Given the description of an element on the screen output the (x, y) to click on. 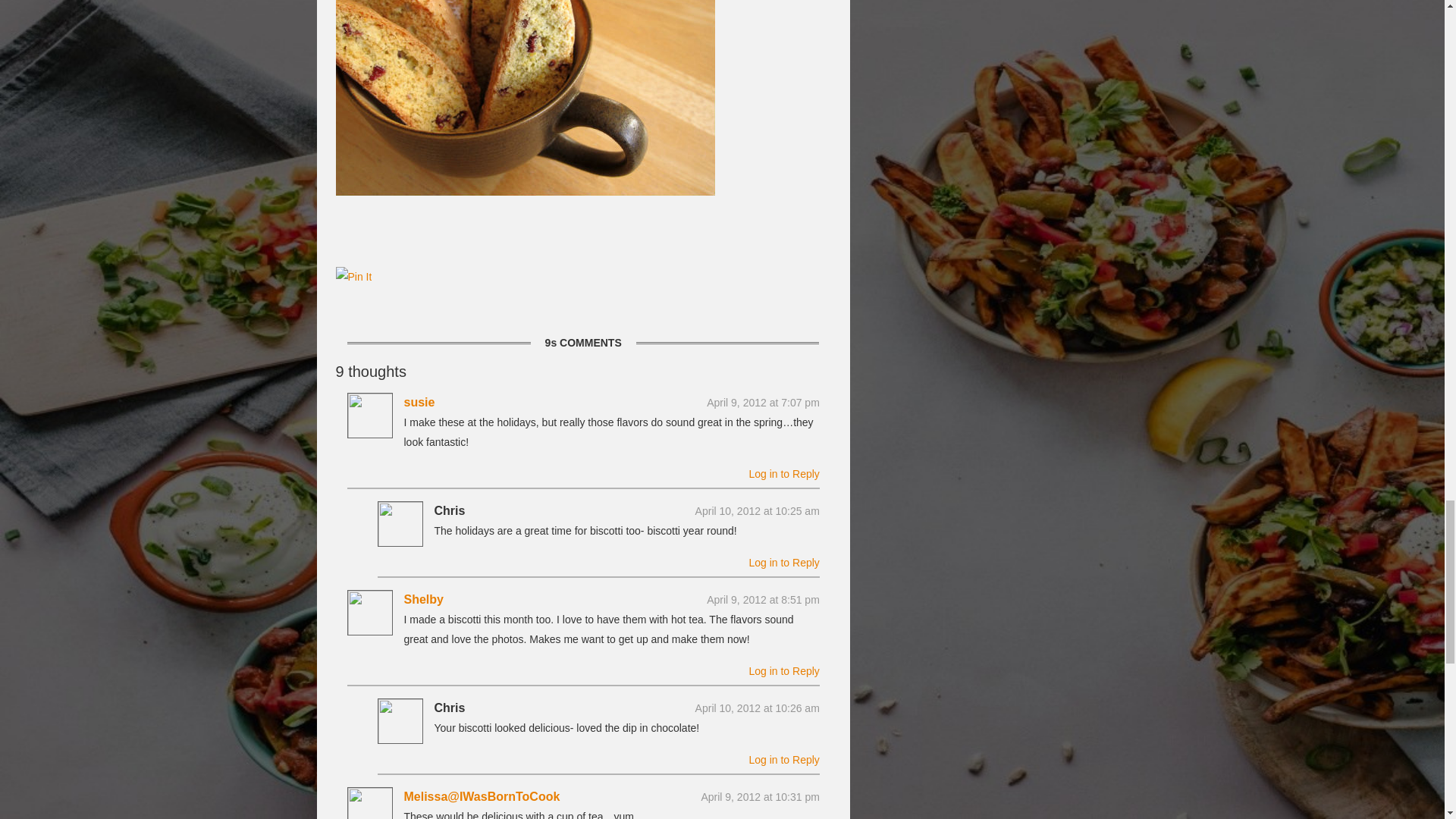
Log in to Reply (783, 473)
Shelby (422, 599)
susie (418, 401)
cranberry orange biscotti (524, 97)
Log in to Reply (783, 562)
Log in to Reply (783, 759)
Pin It (352, 276)
Log in to Reply (783, 671)
